Given the description of an element on the screen output the (x, y) to click on. 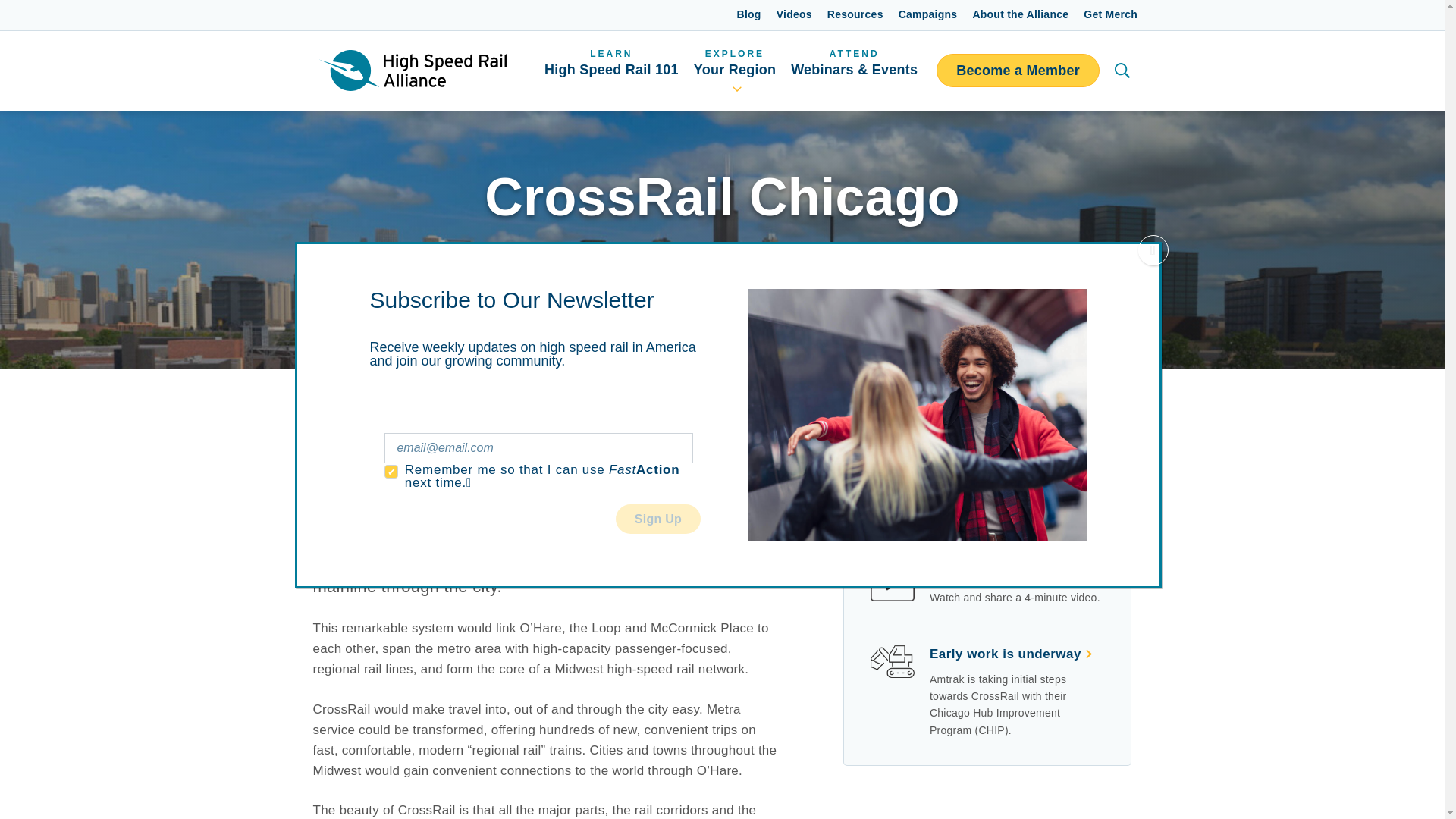
Resources (855, 15)
About the Alliance (1020, 15)
Take Action (973, 473)
Get Merch (1110, 15)
Become a Member (734, 70)
Campaigns (1017, 70)
Early work is underway (928, 15)
Blog (611, 70)
Check out the video (1012, 653)
Sign Up (748, 15)
Videos (1000, 572)
